Given the description of an element on the screen output the (x, y) to click on. 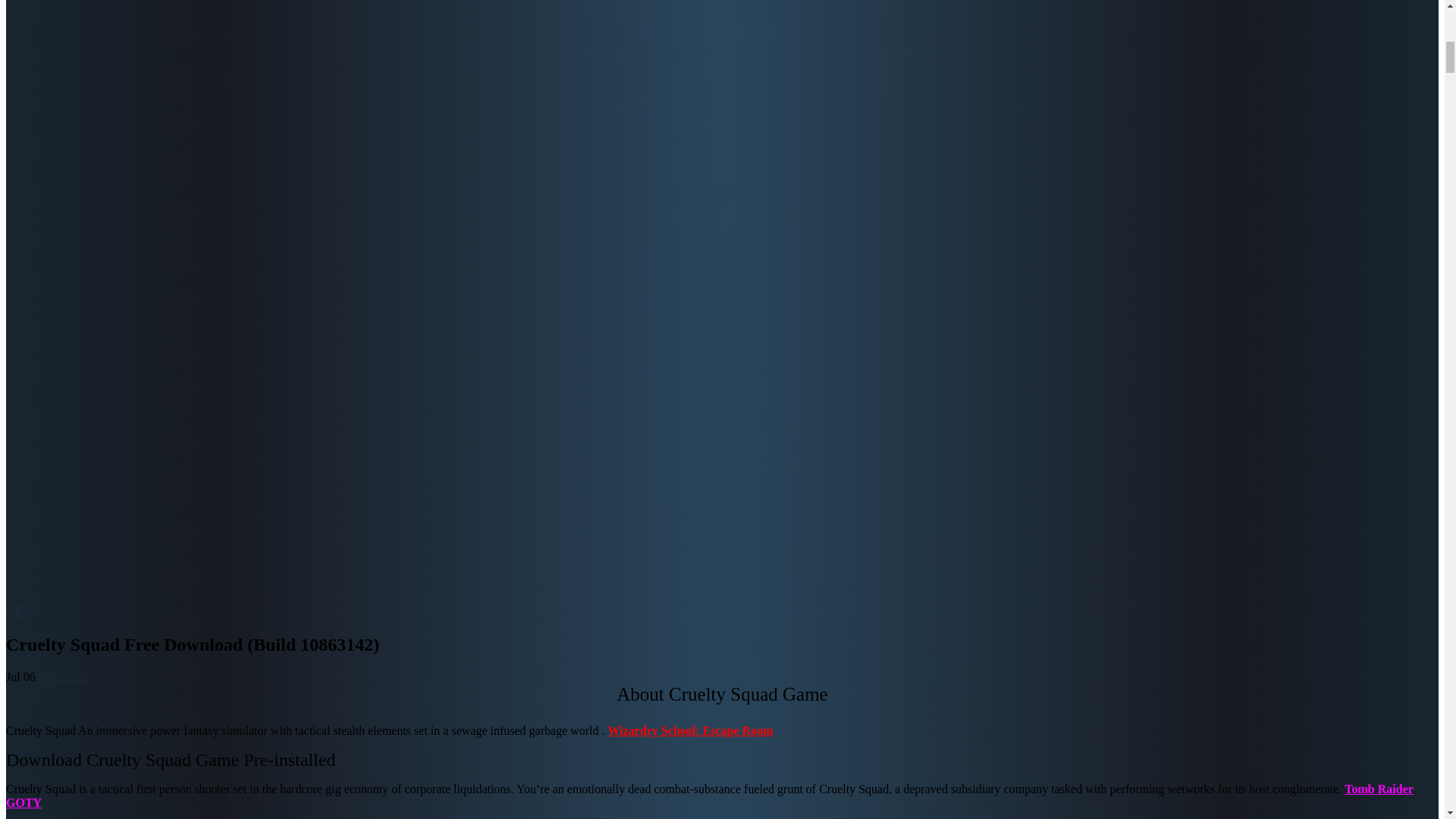
Love this (8, 612)
Tomb Raider GOTY (709, 795)
0 (8, 612)
0 (17, 612)
Wizardry School: Escape Room (690, 730)
SteamGG (62, 676)
